Given the description of an element on the screen output the (x, y) to click on. 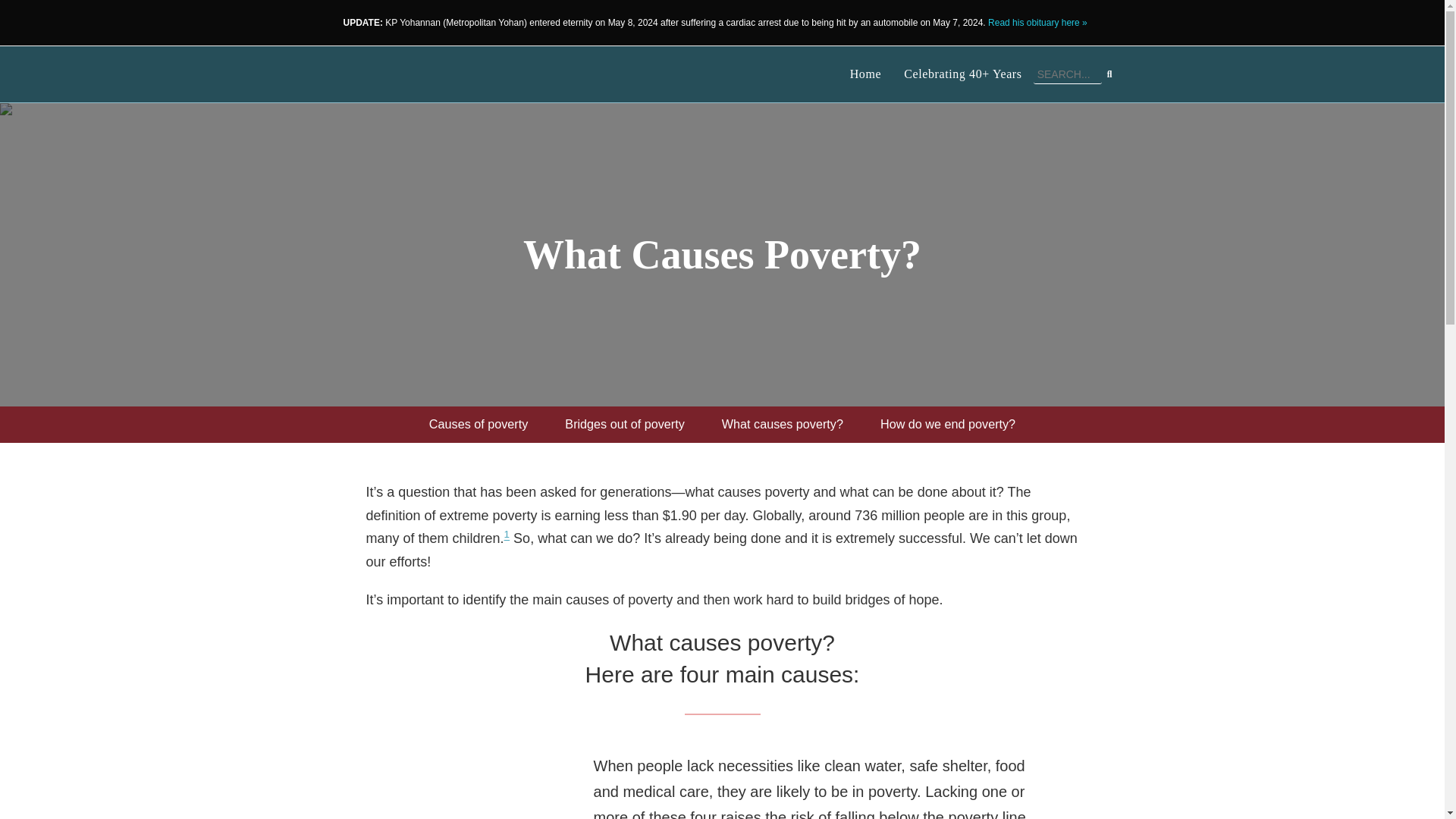
Home (865, 73)
What causes poverty? (782, 424)
About Gospel for Asia (478, 424)
Bridges out of poverty (624, 424)
How do we end poverty? (947, 424)
Causes of poverty (478, 424)
